Given the description of an element on the screen output the (x, y) to click on. 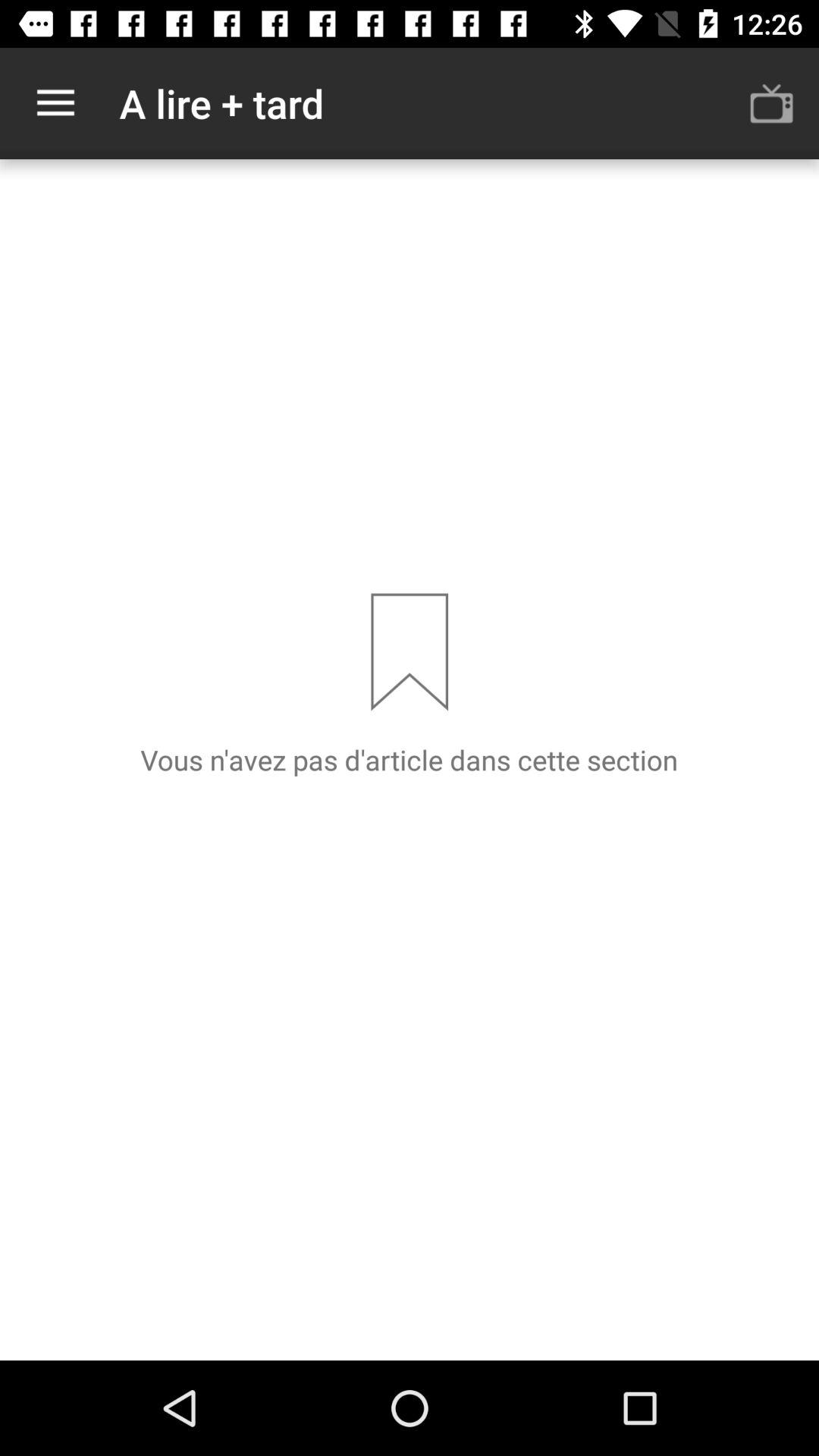
tap icon next to the a lire + tard item (55, 103)
